Given the description of an element on the screen output the (x, y) to click on. 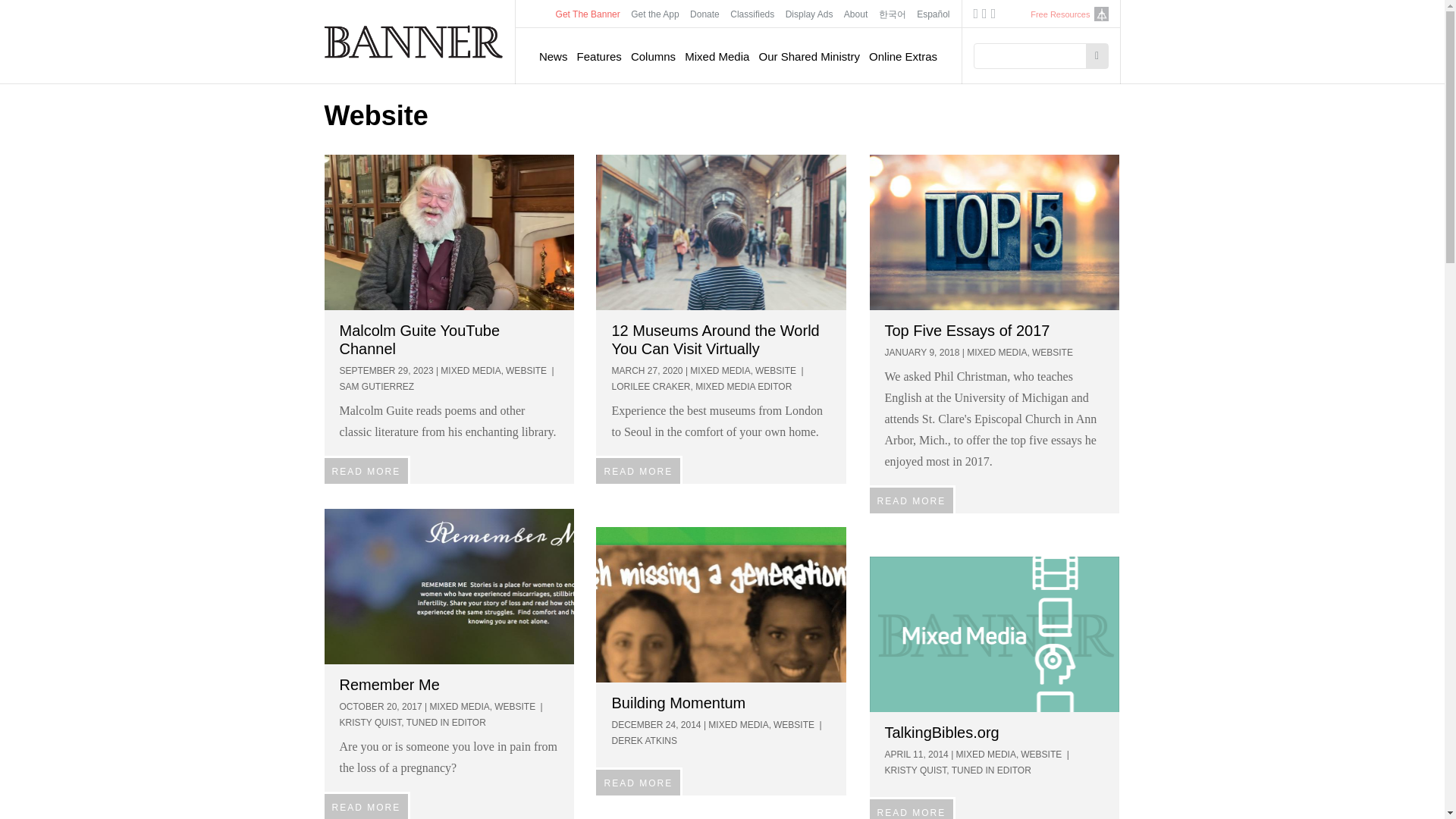
Online Extras (903, 56)
WEBSITE (526, 370)
crcna.org (1100, 13)
WEBSITE (775, 370)
IMAGE: (449, 231)
MIXED MEDIA, (472, 370)
Donate (704, 14)
Enter the terms you wish to search for. (1035, 55)
Home (413, 41)
IMAGE: (994, 231)
